Given the description of an element on the screen output the (x, y) to click on. 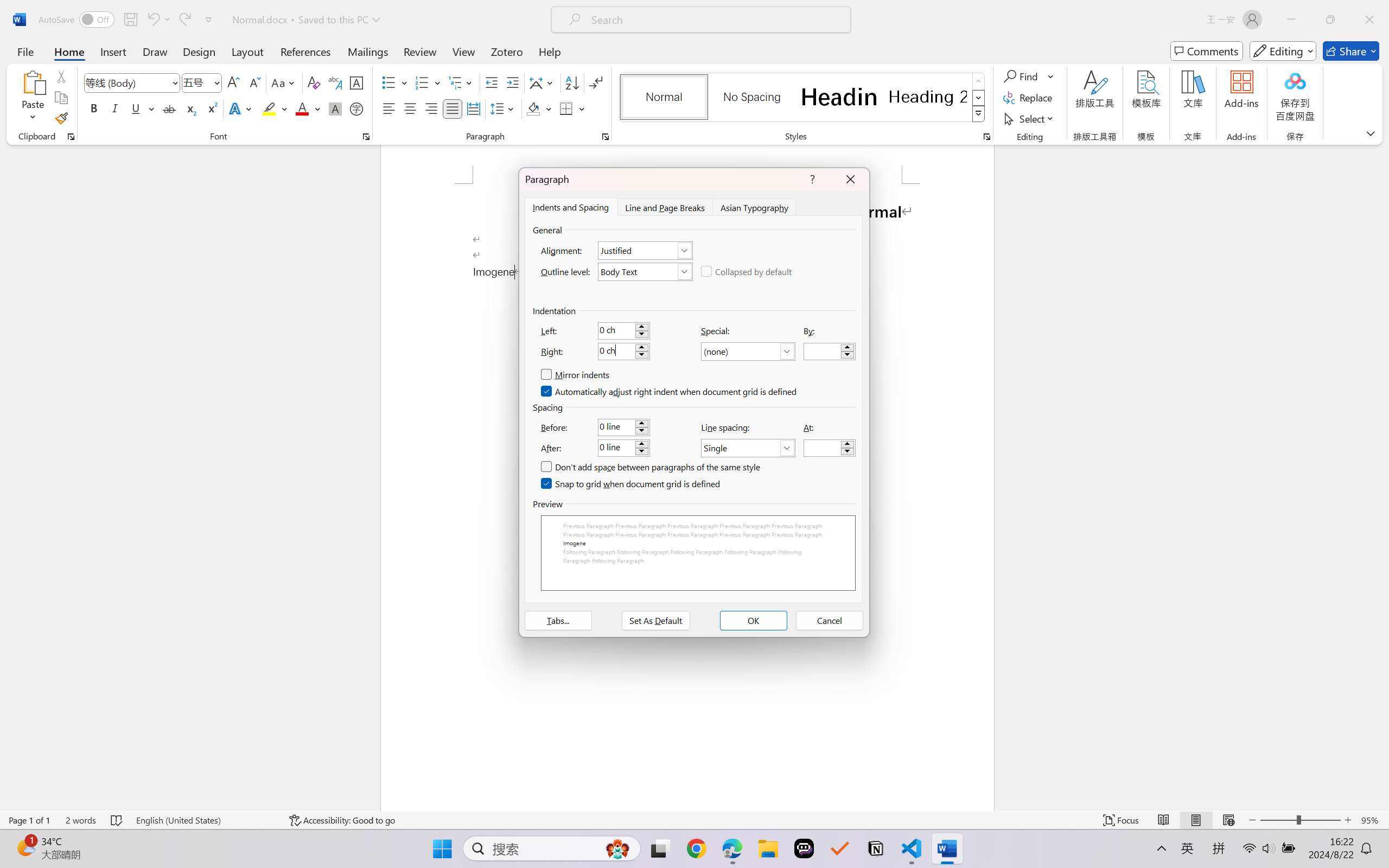
Office Clipboard... (70, 136)
Class: MsoCommandBar (694, 819)
Show/Hide Editing Marks (595, 82)
Cancel (829, 620)
Superscript (210, 108)
Subscript (190, 108)
Redo Style (184, 19)
